Given the description of an element on the screen output the (x, y) to click on. 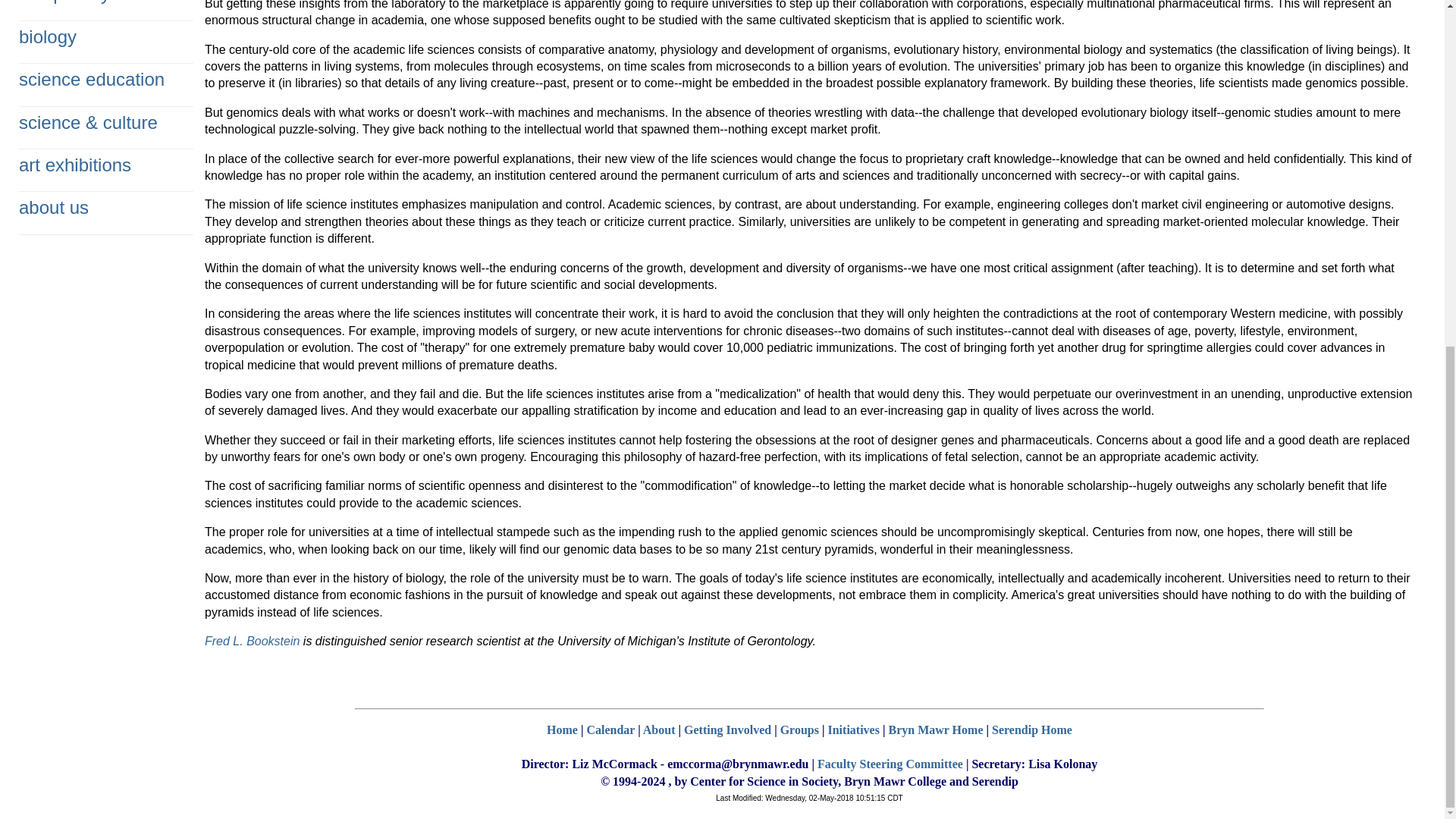
Groups (799, 729)
Calendar (610, 729)
Faculty Steering Committee (889, 763)
Getting Involved (727, 729)
biology (47, 36)
Home (562, 729)
art exhibitions (74, 164)
Initiatives (853, 729)
about us (53, 207)
About (659, 729)
